Given the description of an element on the screen output the (x, y) to click on. 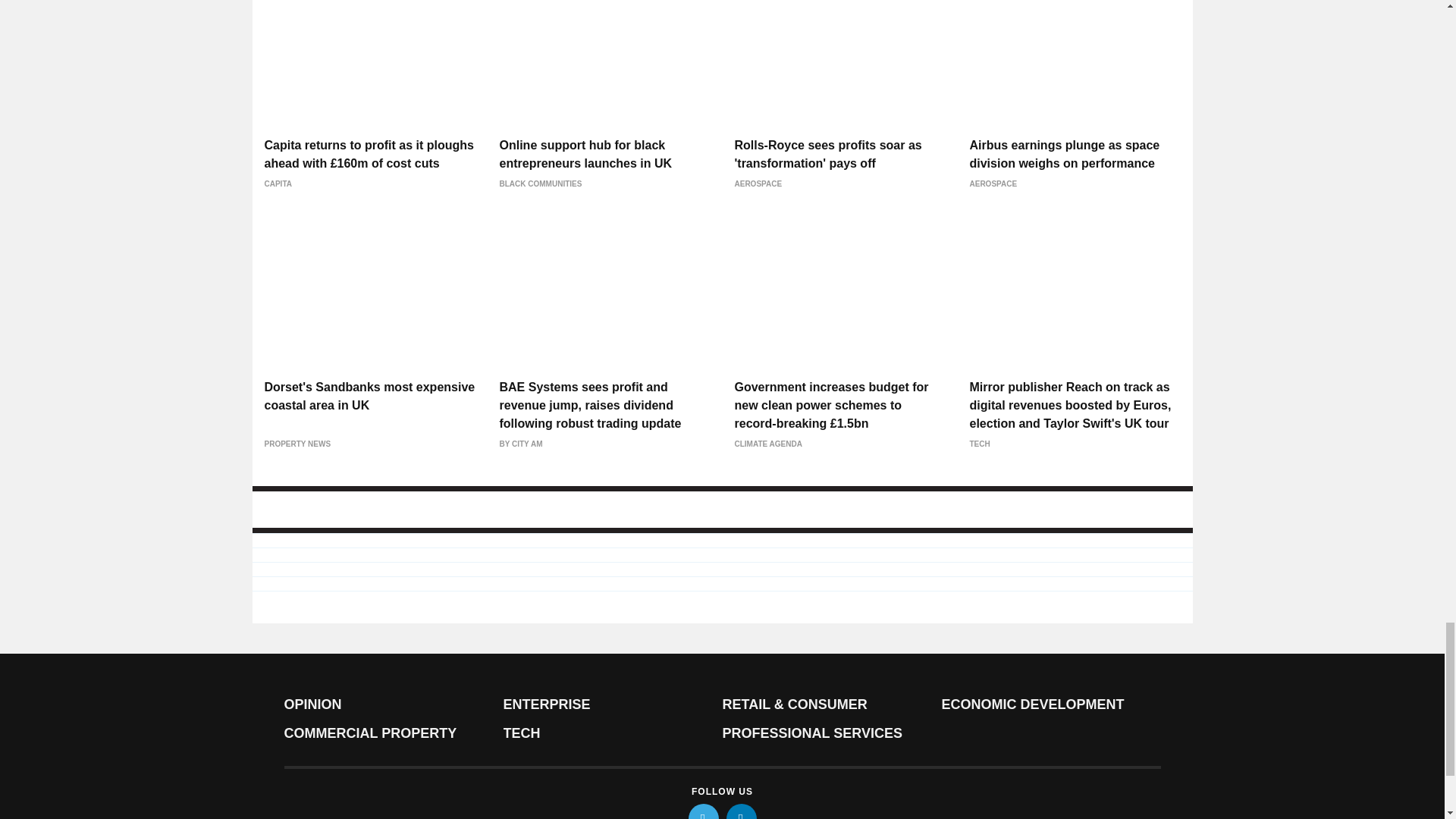
twitter (703, 811)
linkedin (741, 811)
